Given the description of an element on the screen output the (x, y) to click on. 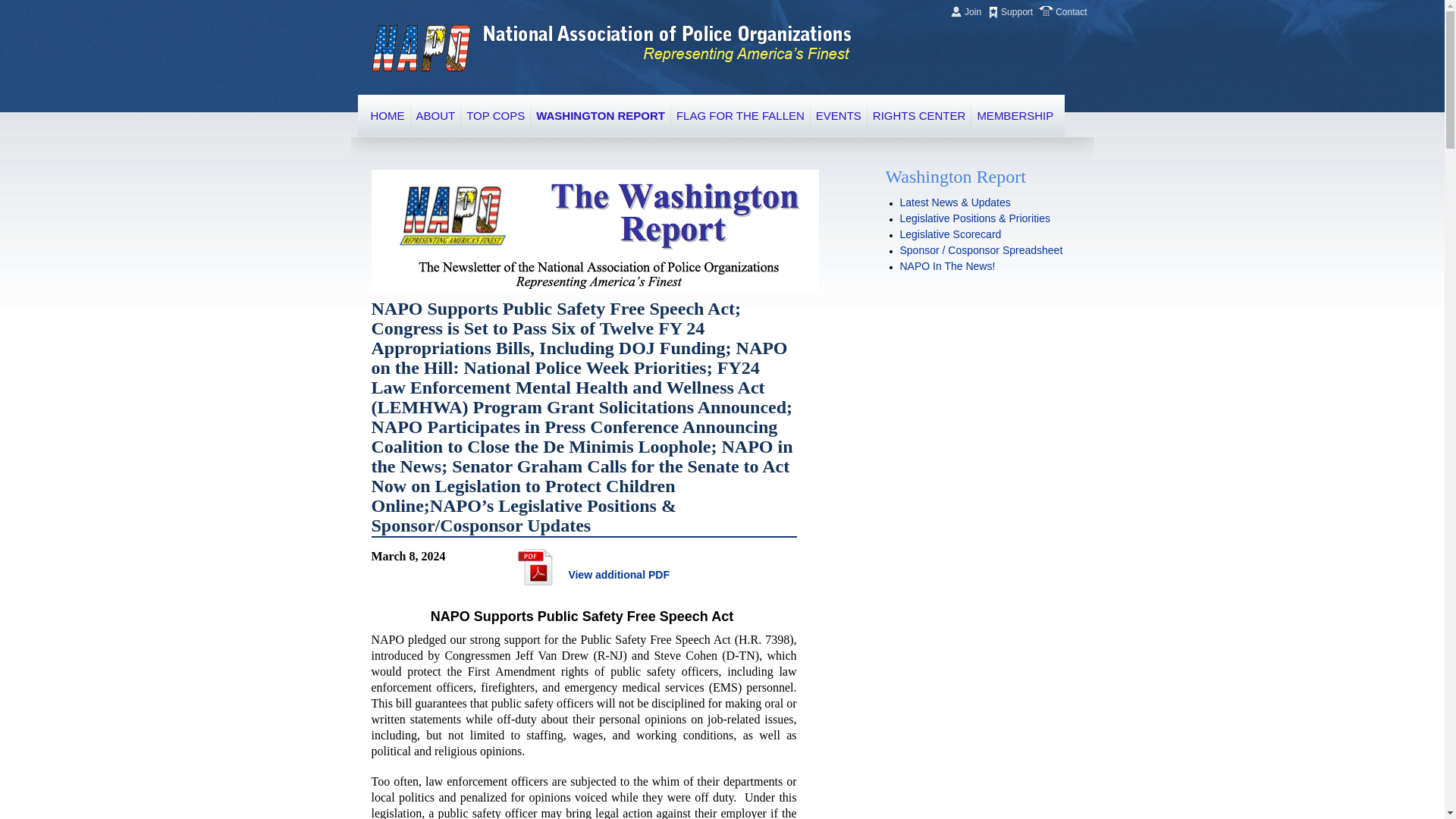
FLAG FOR THE FALLEN (741, 115)
WASHINGTON REPORT (600, 115)
Contact (1069, 11)
National Association of Police Organizations (420, 48)
NAPO (420, 48)
Join (972, 11)
ABOUT (434, 115)
Support (1016, 11)
TOP COPS (494, 115)
HOME (386, 115)
